Given the description of an element on the screen output the (x, y) to click on. 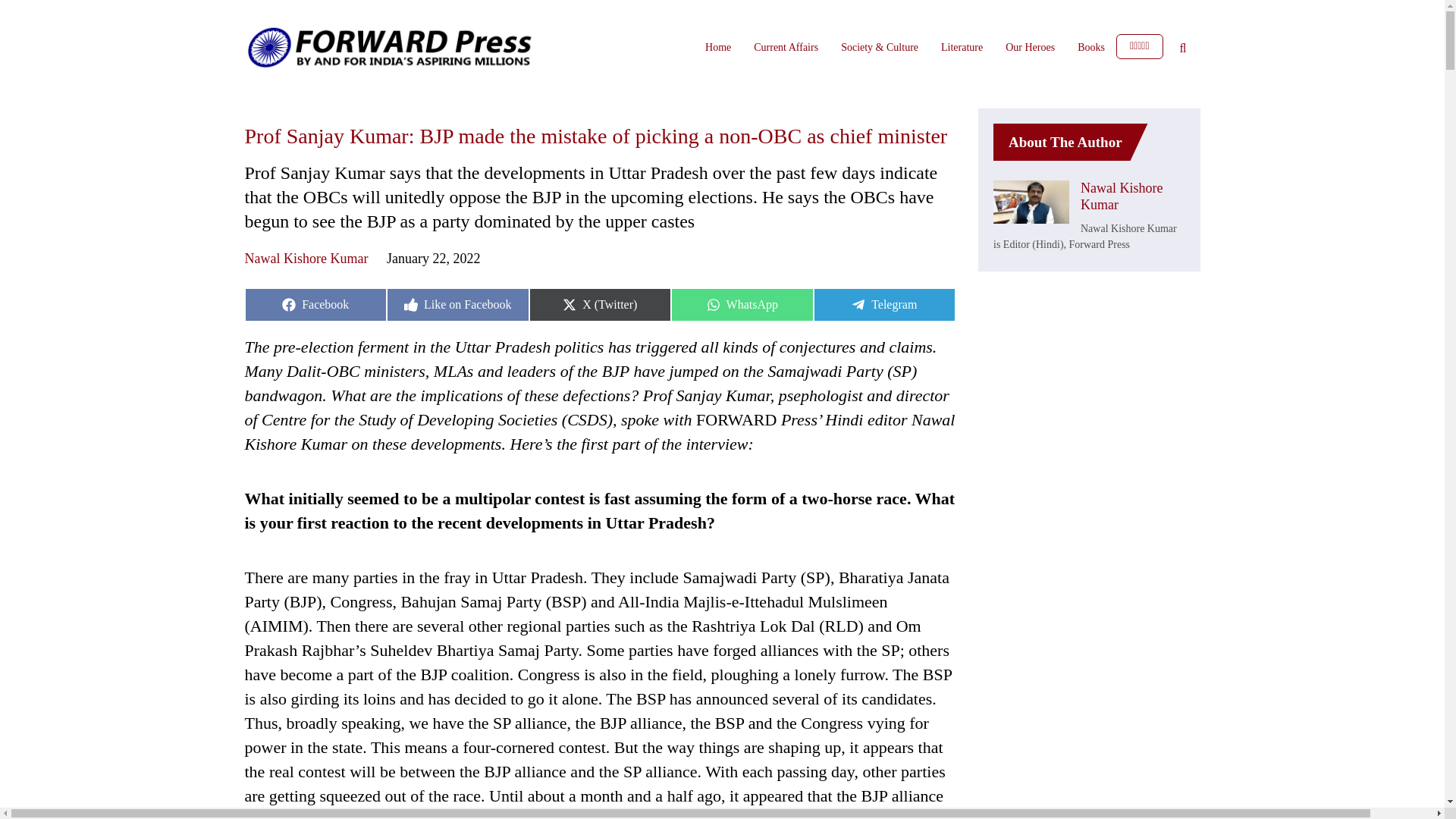
Literature (961, 47)
Nawal Kishore Kumar (306, 258)
Home (717, 47)
Books (315, 304)
Our Heroes (1091, 47)
Current Affairs (742, 304)
